Given the description of an element on the screen output the (x, y) to click on. 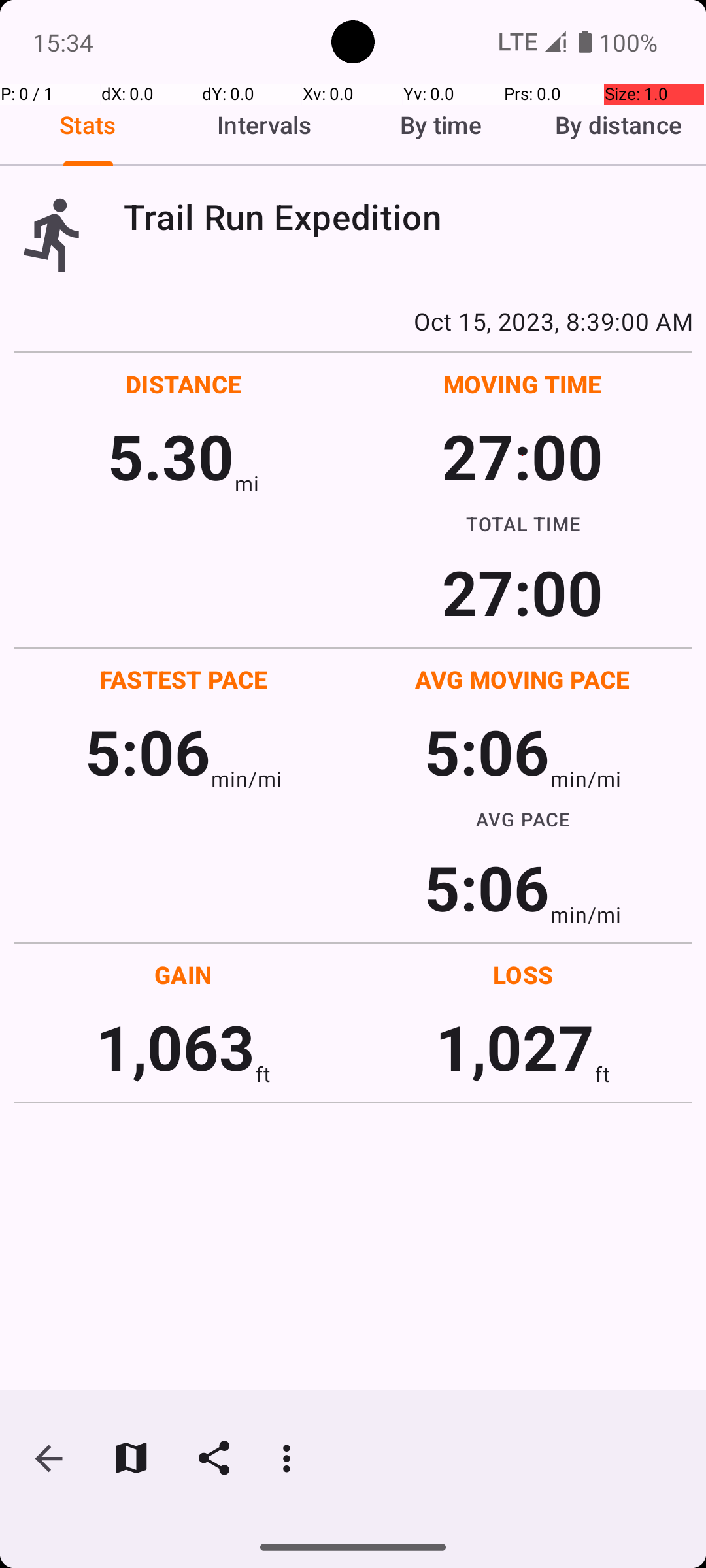
Trail Run Expedition Element type: android.widget.TextView (407, 216)
Oct 15, 2023, 8:39:00 AM Element type: android.widget.TextView (352, 320)
5.30 Element type: android.widget.TextView (170, 455)
27:00 Element type: android.widget.TextView (522, 455)
5:06 Element type: android.widget.TextView (147, 750)
1,063 Element type: android.widget.TextView (175, 1045)
1,027 Element type: android.widget.TextView (514, 1045)
